Given the description of an element on the screen output the (x, y) to click on. 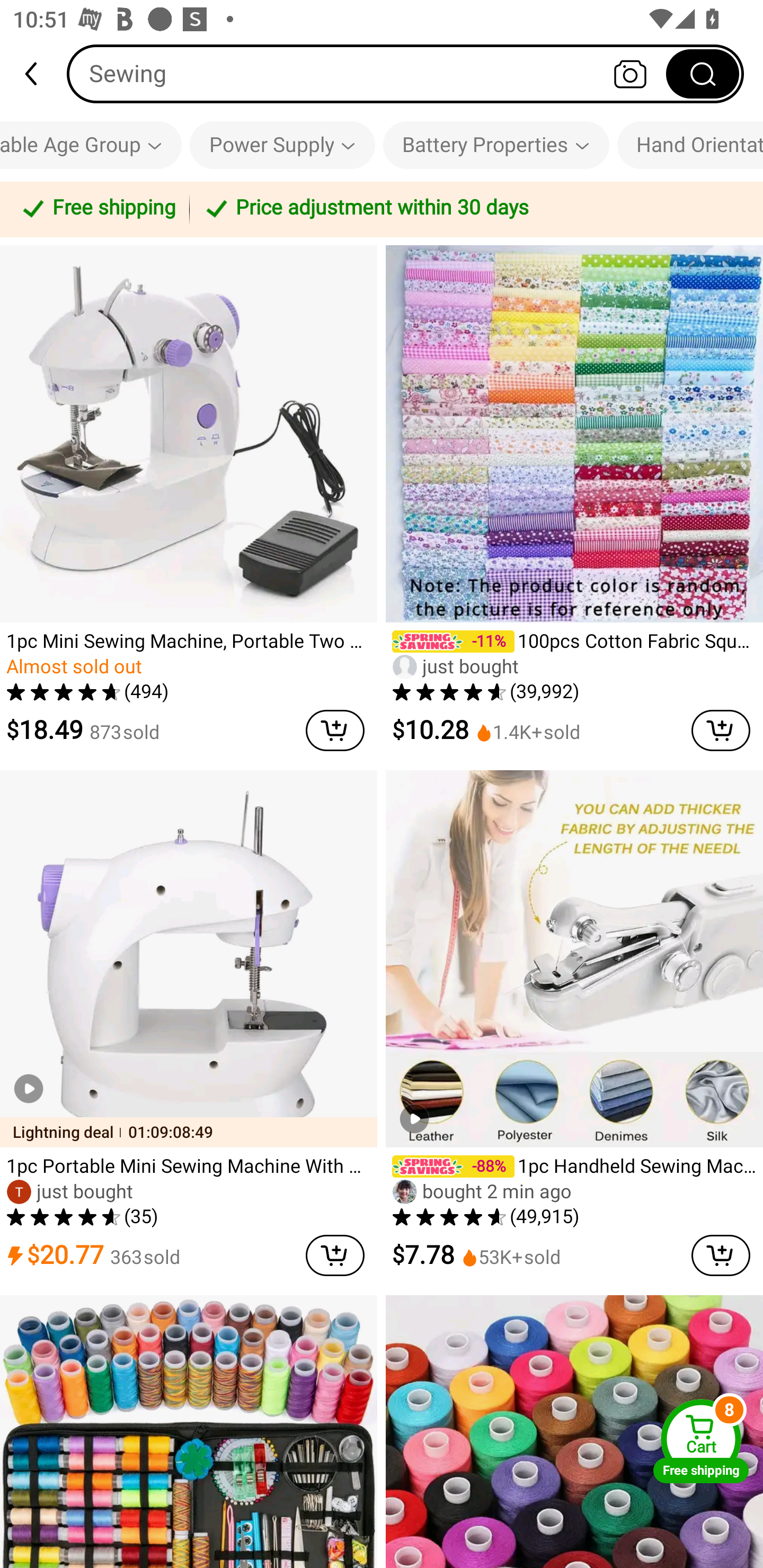
back (39, 73)
Sewing (405, 73)
Power Supply (282, 144)
Battery Properties (496, 144)
Free shipping (97, 209)
Price adjustment within 30 days (472, 209)
cart delete (334, 730)
cart delete (720, 730)
cart delete (334, 1255)
cart delete (720, 1255)
Cart Free shipping Cart (701, 1440)
